Given the description of an element on the screen output the (x, y) to click on. 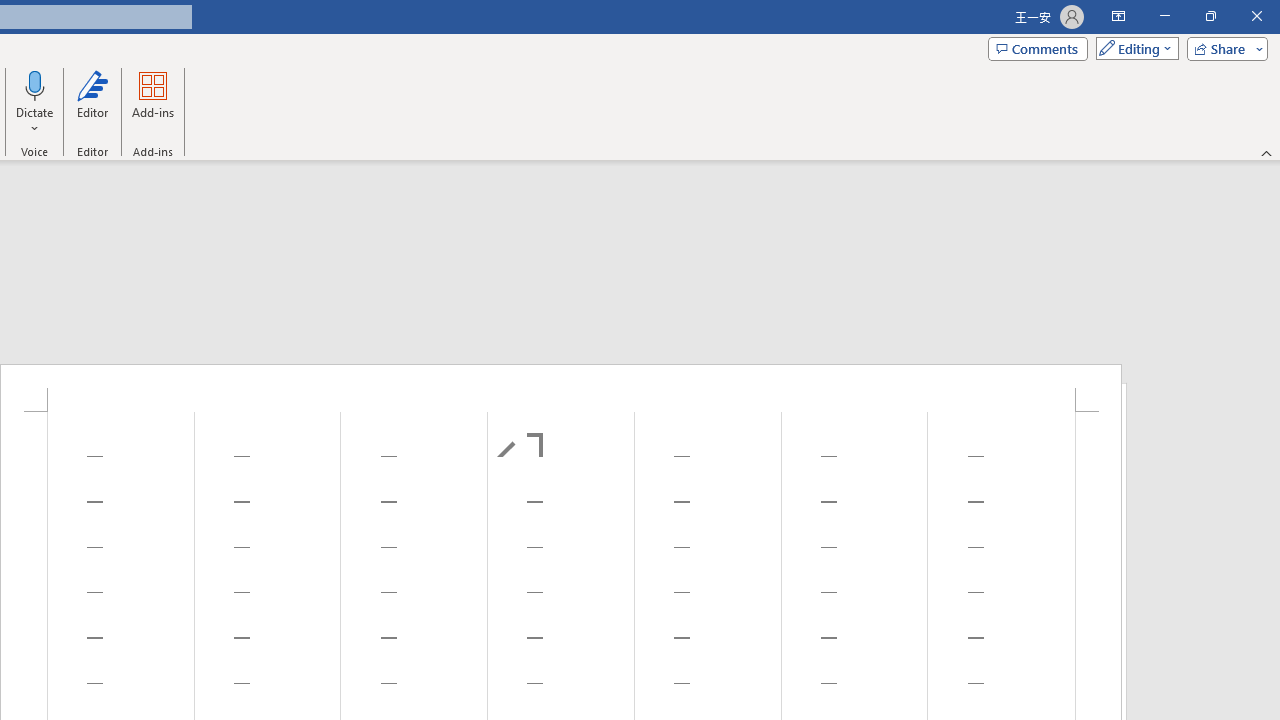
Dictate (35, 84)
